Given the description of an element on the screen output the (x, y) to click on. 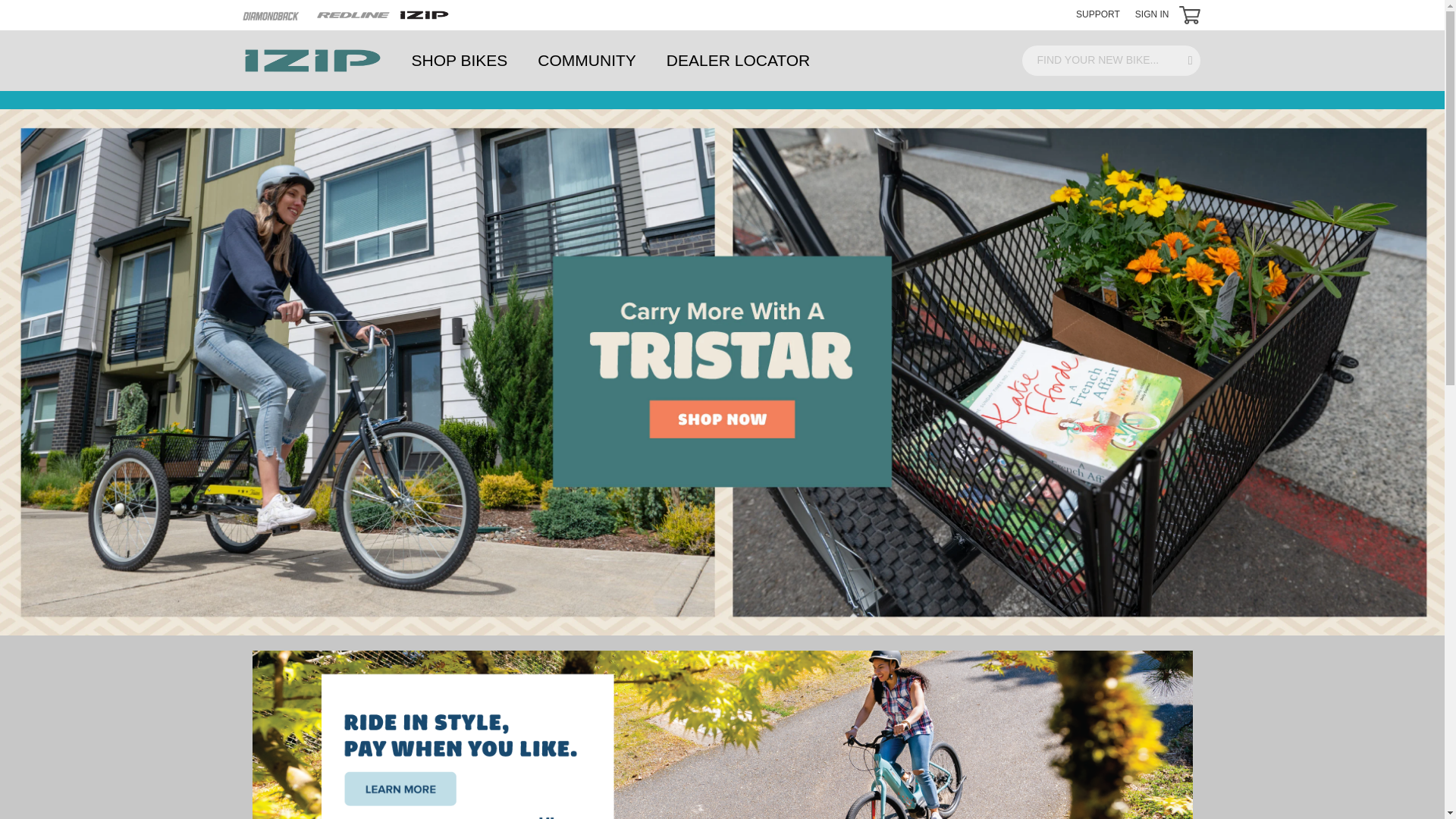
DEALER LOCATOR (737, 60)
SHOP BIKES (459, 60)
COMMUNITY (586, 60)
SUPPORT (1097, 14)
MY CART (1188, 15)
SIGN IN (1152, 14)
